Given the description of an element on the screen output the (x, y) to click on. 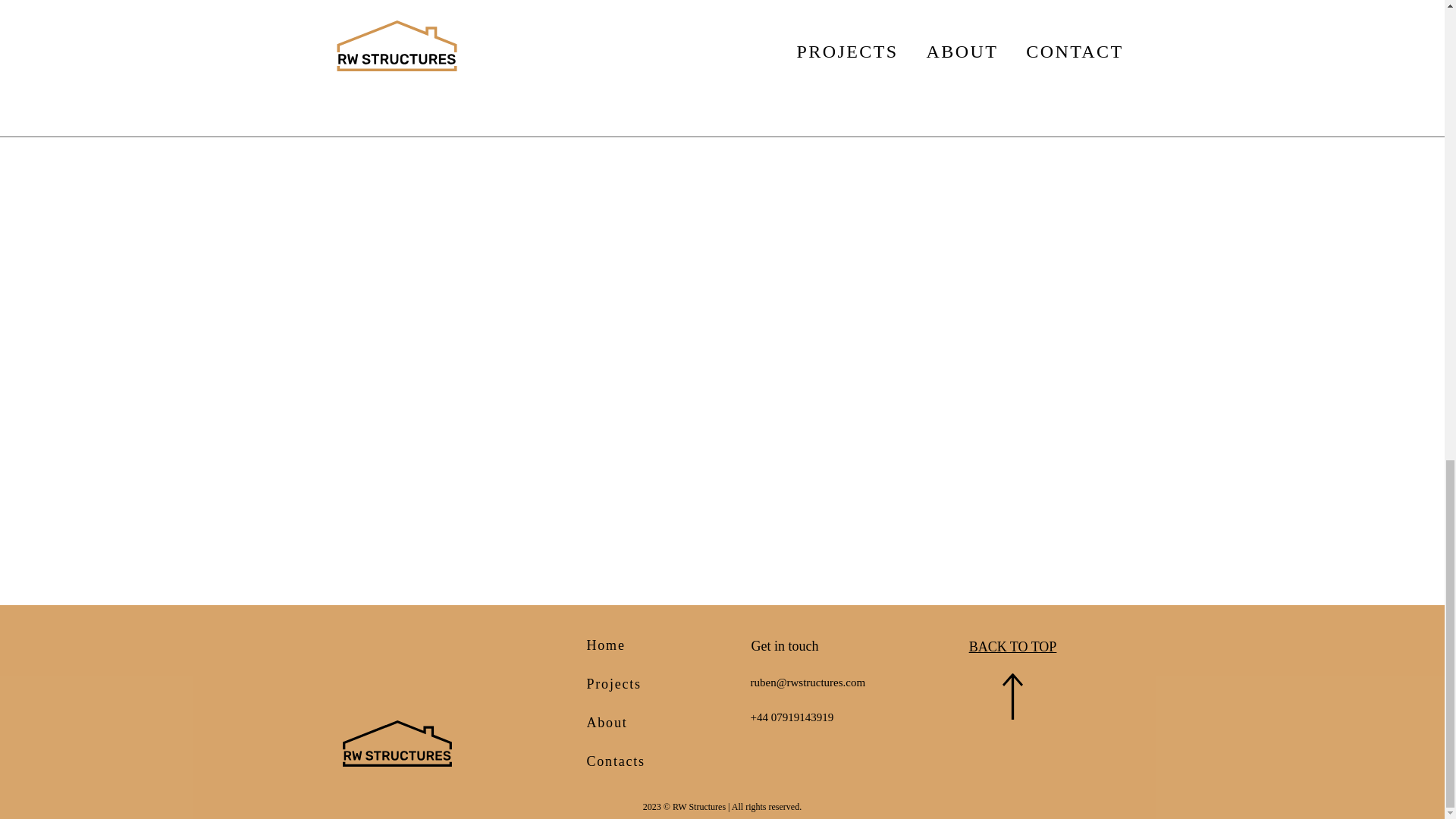
Contacts (627, 762)
About (627, 722)
Home (627, 644)
Projects (627, 683)
BACK TO TOP (1013, 646)
